Given the description of an element on the screen output the (x, y) to click on. 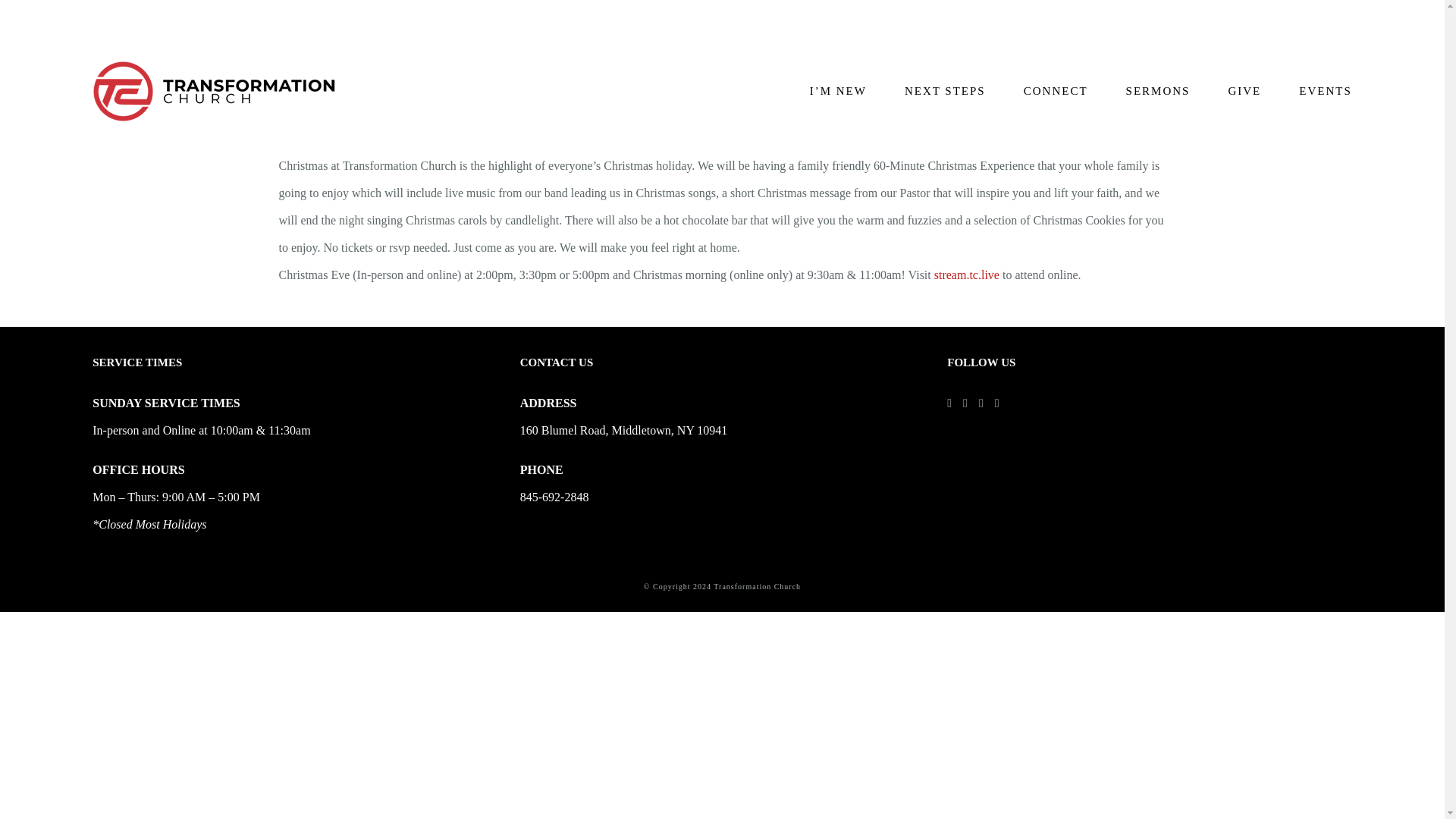
NEXT STEPS (944, 90)
stream.tc.live (966, 274)
845-692-2848 (554, 496)
160 Blumel Road, Middletown, NY 10941 (623, 430)
